Given the description of an element on the screen output the (x, y) to click on. 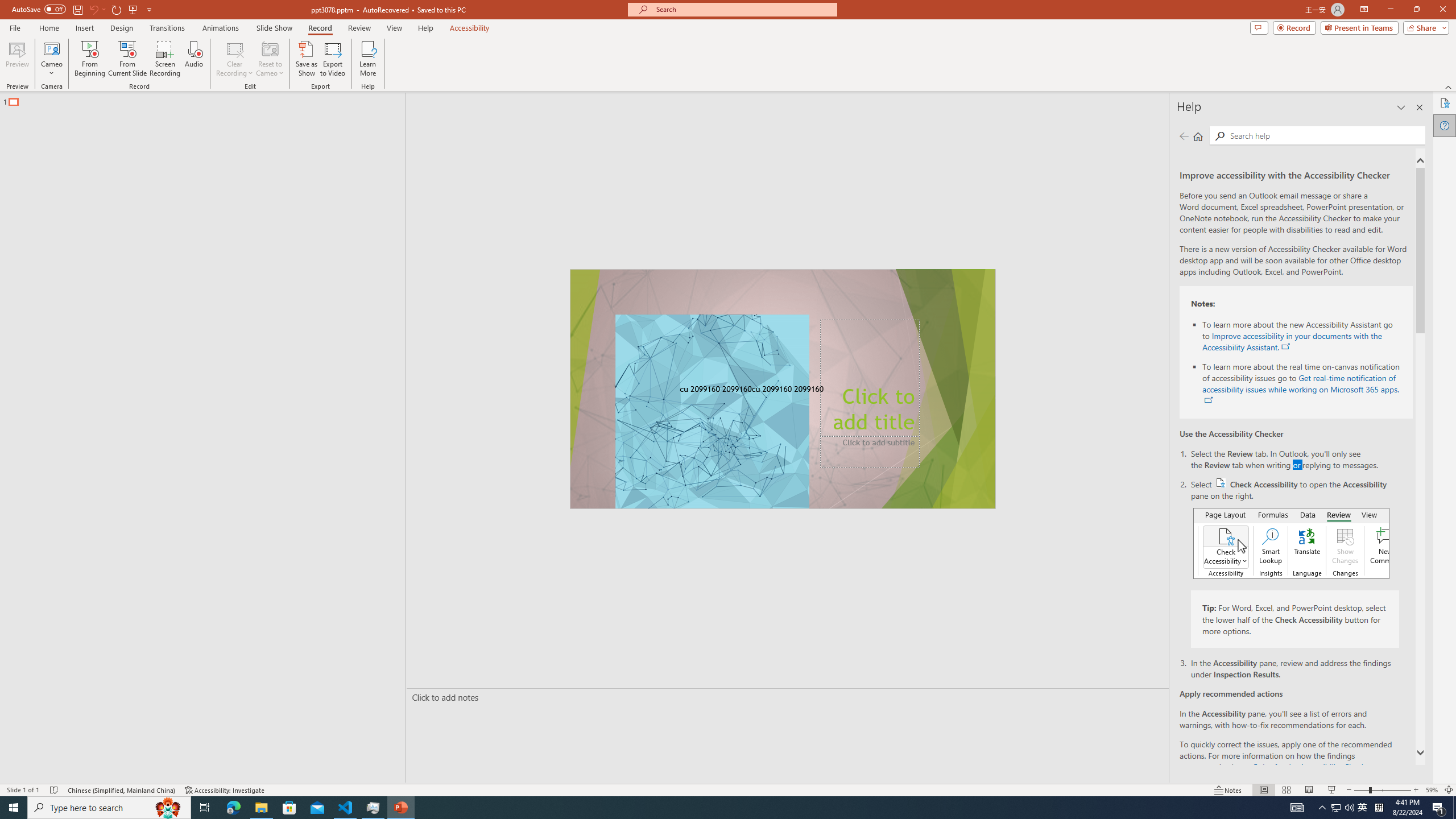
Subtitle TextBox (869, 451)
Previous page (1183, 136)
TextBox 61 (781, 389)
